Given the description of an element on the screen output the (x, y) to click on. 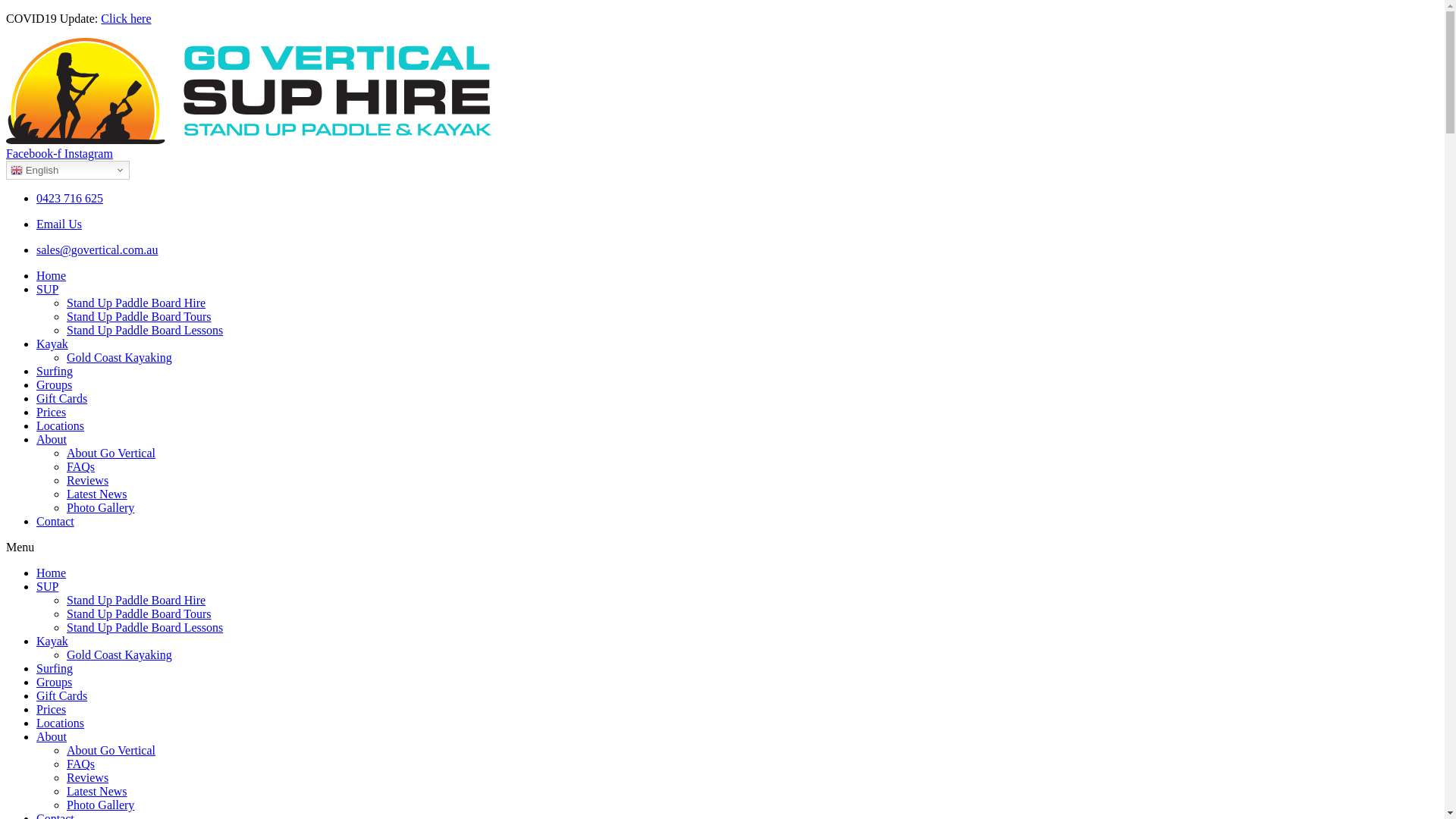
Locations Element type: text (60, 425)
FAQs Element type: text (80, 466)
Home Element type: text (50, 275)
Gift Cards Element type: text (61, 398)
Reviews Element type: text (87, 479)
Gold Coast Kayaking Element type: text (119, 357)
Photo Gallery Element type: text (100, 507)
Stand Up Paddle Board Lessons Element type: text (144, 627)
0423 716 625 Element type: text (69, 197)
Groups Element type: text (54, 384)
Facebook-f Element type: text (35, 153)
Prices Element type: text (50, 708)
sales@govertical.com.au Element type: text (96, 249)
Locations Element type: text (60, 722)
About Go Vertical Element type: text (110, 749)
Prices Element type: text (50, 411)
Gold Coast Kayaking Element type: text (119, 654)
Latest News Element type: text (96, 493)
Surfing Element type: text (54, 668)
Stand Up Paddle Board Tours Element type: text (138, 613)
Home Element type: text (50, 572)
Latest News Element type: text (96, 790)
English Element type: text (67, 169)
Photo Gallery Element type: text (100, 804)
Stand Up Paddle Board Lessons Element type: text (144, 329)
Instagram Element type: text (88, 153)
Click here Element type: text (125, 18)
Contact Element type: text (55, 520)
Stand Up Paddle Board Hire Element type: text (135, 599)
About Go Vertical Element type: text (110, 452)
FAQs Element type: text (80, 763)
Reviews Element type: text (87, 777)
SUP Element type: text (47, 288)
Groups Element type: text (54, 681)
Kayak Element type: text (52, 343)
SUP Element type: text (47, 586)
About Element type: text (51, 736)
Stand Up Paddle Board Hire Element type: text (135, 302)
Surfing Element type: text (54, 370)
Stand Up Paddle Board Tours Element type: text (138, 316)
Kayak Element type: text (52, 640)
Email Us Element type: text (58, 223)
About Element type: text (51, 439)
Gift Cards Element type: text (61, 695)
